Given the description of an element on the screen output the (x, y) to click on. 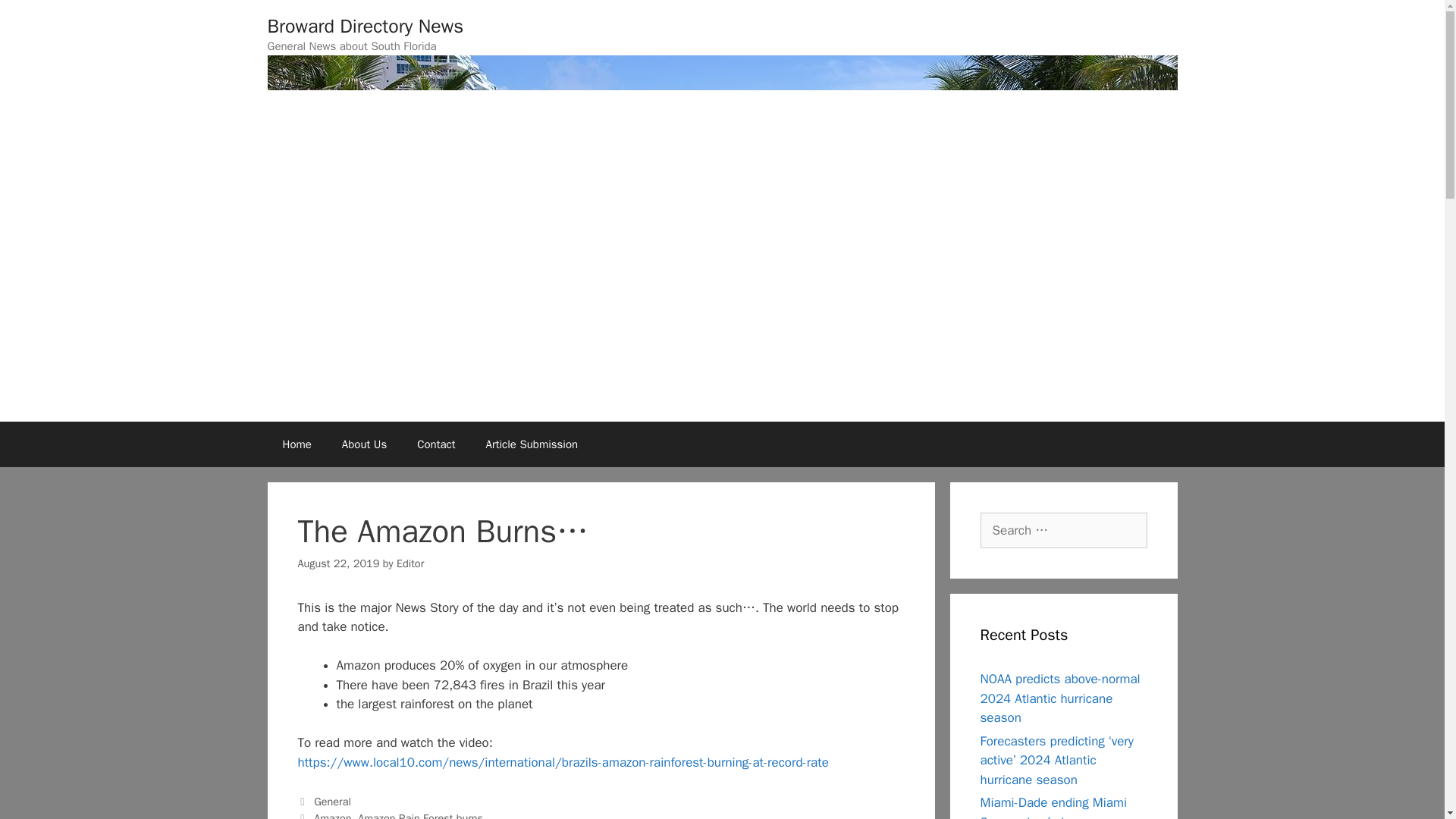
Search (35, 18)
Broward Directory News (364, 25)
Home (296, 443)
General (332, 801)
NOAA predicts above-normal 2024 Atlantic hurricane season (1059, 697)
Amazon (332, 815)
Amazon Rain Forest burns (420, 815)
Editor (409, 563)
Search for: (1063, 530)
About Us (363, 443)
Article Submission (532, 443)
View all posts by Editor (409, 563)
Contact (435, 443)
